Given the description of an element on the screen output the (x, y) to click on. 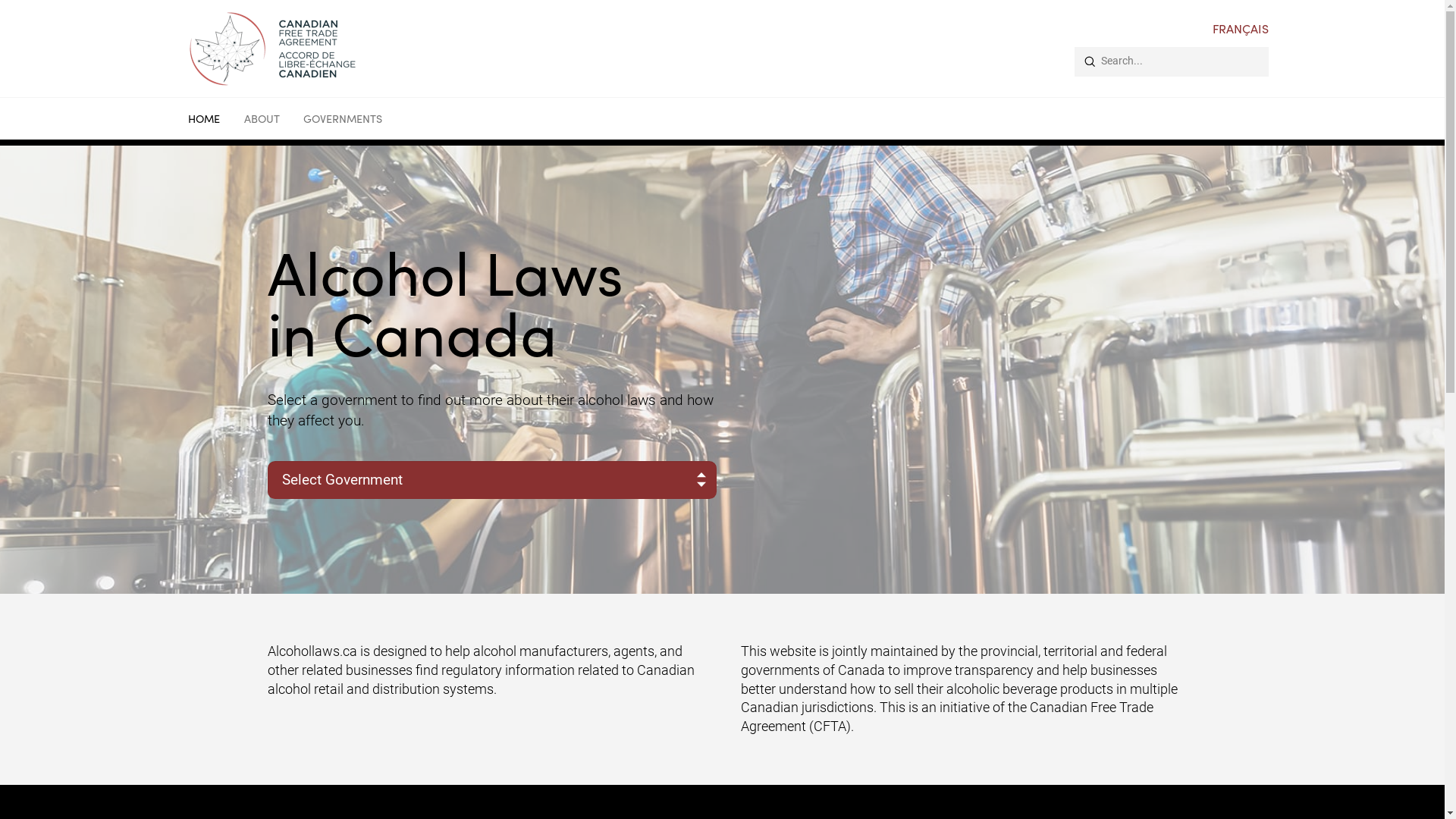
Submit Element type: text (1089, 61)
GOVERNMENTS Element type: text (346, 120)
ABOUT Element type: text (261, 120)
HOME Element type: text (203, 120)
